Given the description of an element on the screen output the (x, y) to click on. 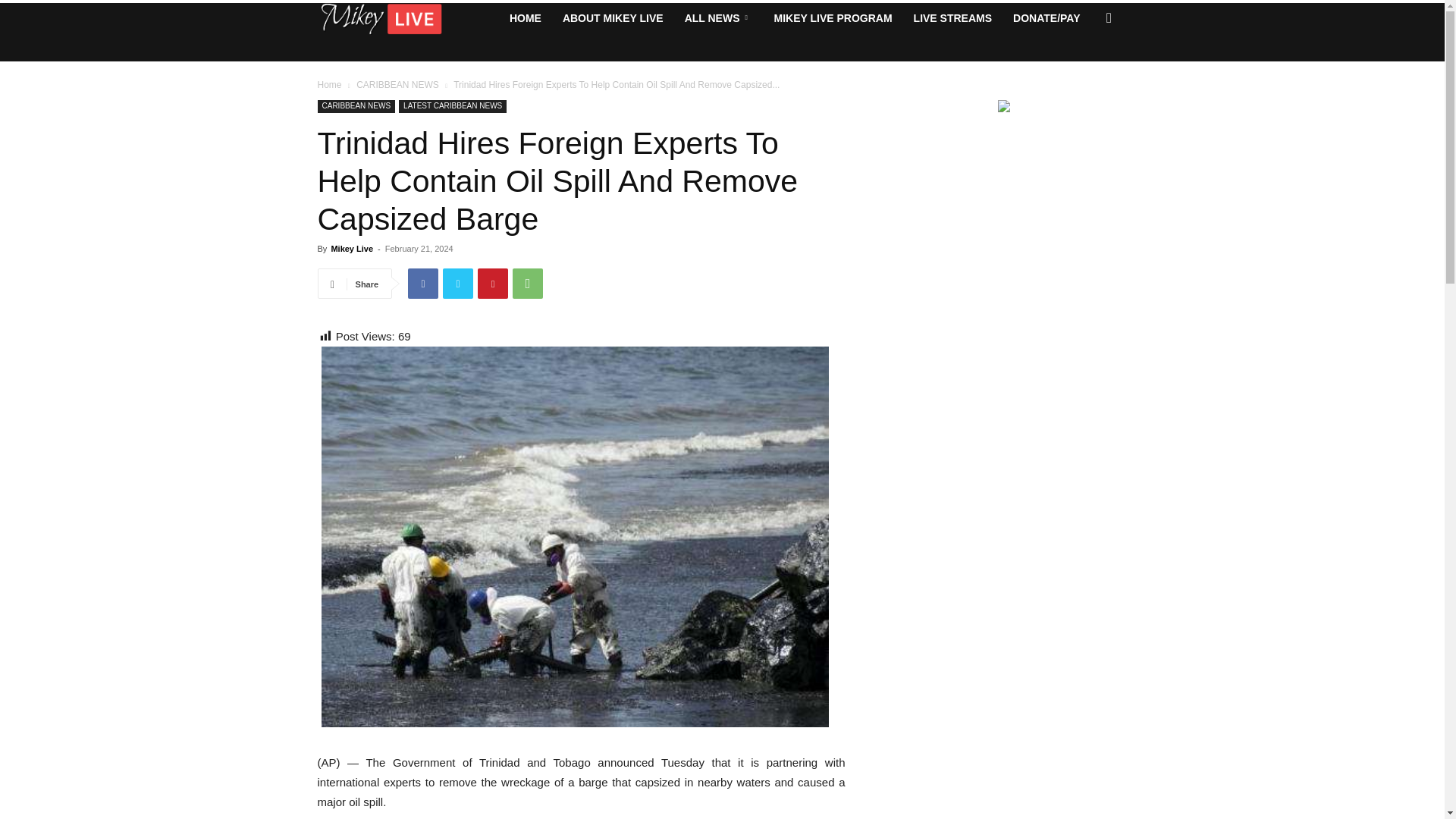
Mikey Live (351, 248)
View all posts in CARIBBEAN NEWS (397, 84)
Search (1085, 78)
Mikey Live (379, 18)
LATEST CARIBBEAN NEWS (452, 106)
ALL NEWS (718, 18)
WhatsApp (527, 283)
MIKEY LIVE PROGRAM (832, 18)
CARIBBEAN NEWS (397, 84)
Twitter (457, 283)
Pinterest (492, 283)
HOME (525, 18)
LIVE STREAMS (952, 18)
CARIBBEAN NEWS (355, 106)
Home (328, 84)
